Given the description of an element on the screen output the (x, y) to click on. 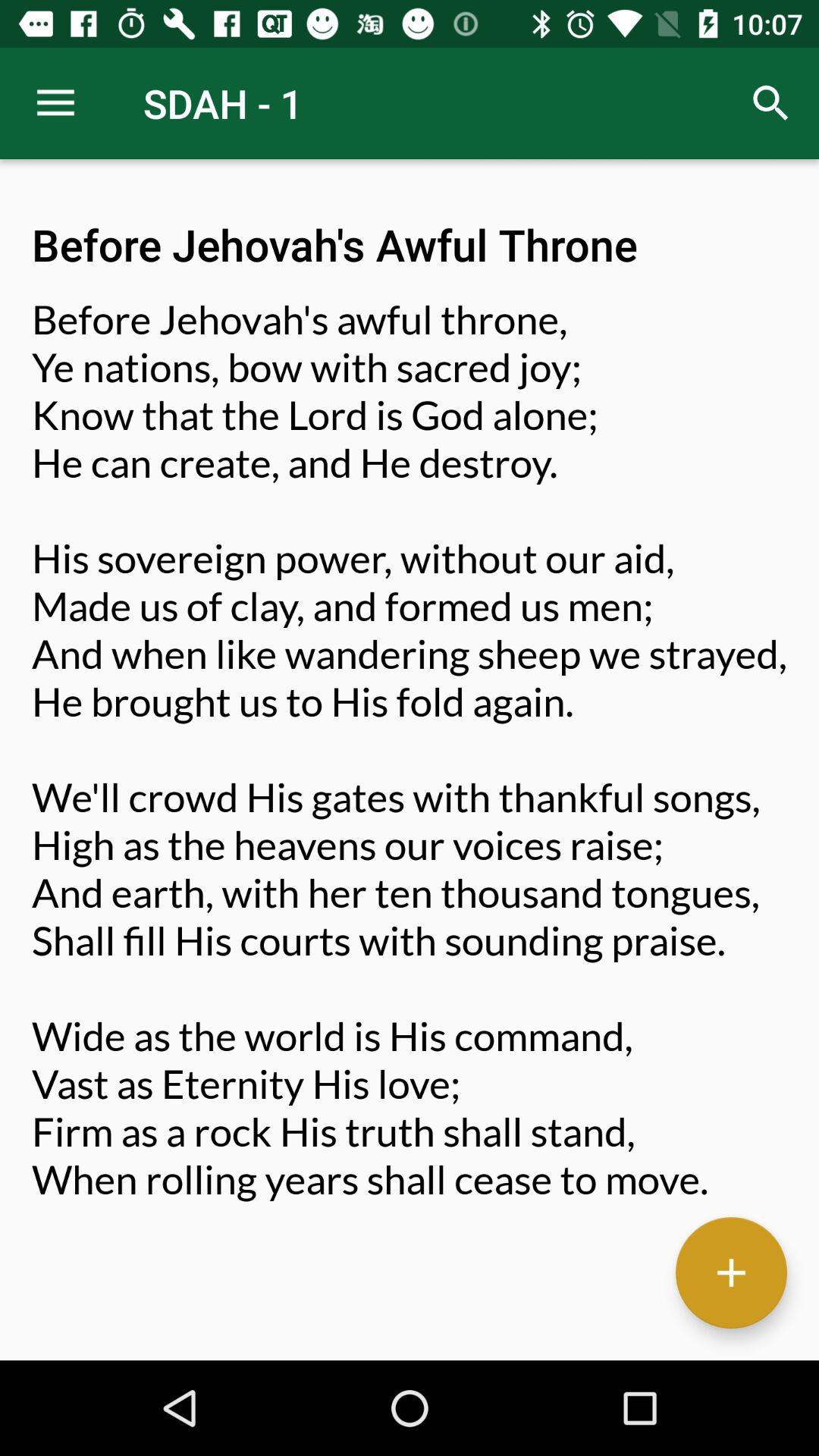
turn off the item below before jehovah s item (731, 1272)
